Given the description of an element on the screen output the (x, y) to click on. 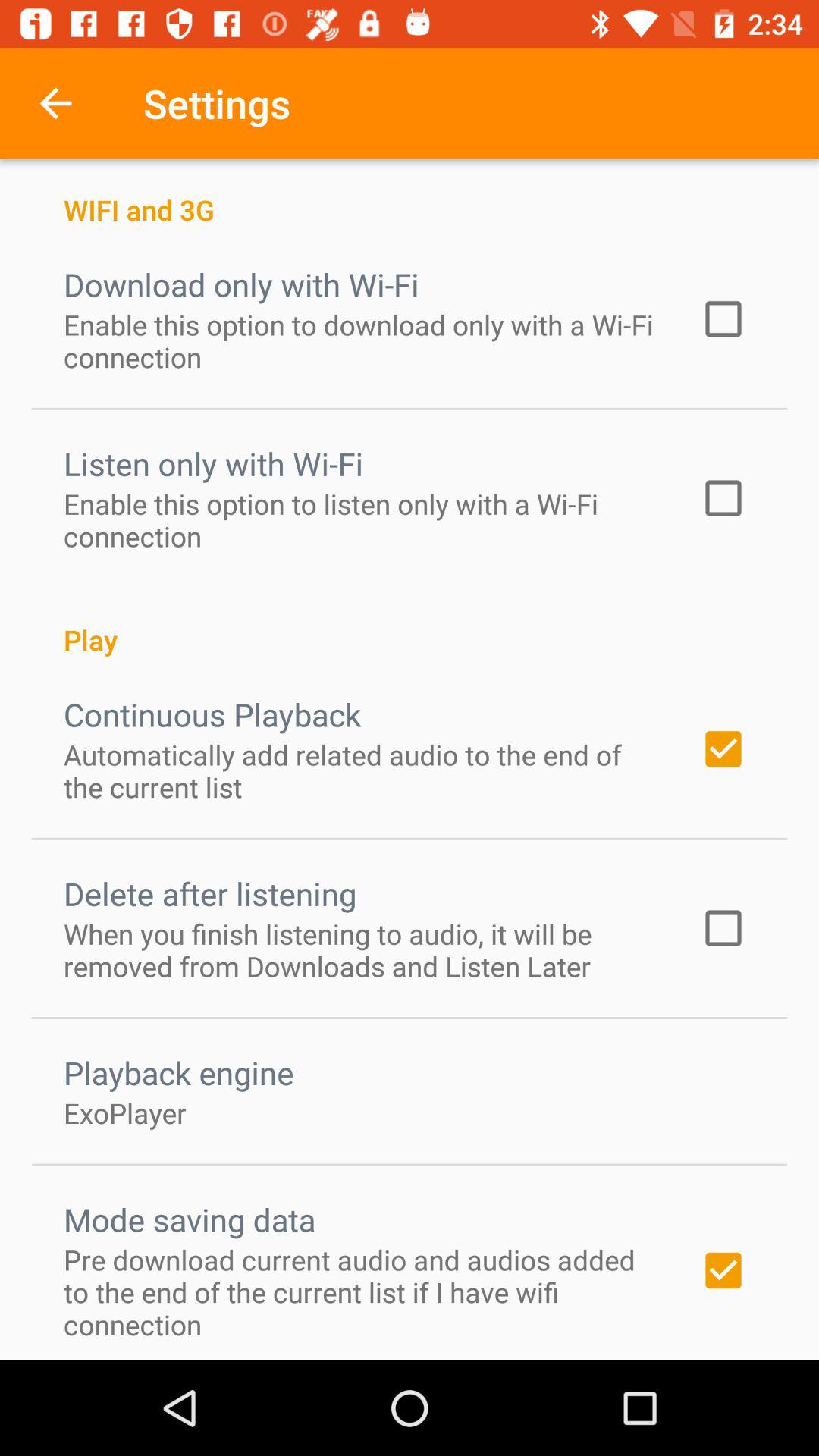
click delete after listening item (209, 893)
